Given the description of an element on the screen output the (x, y) to click on. 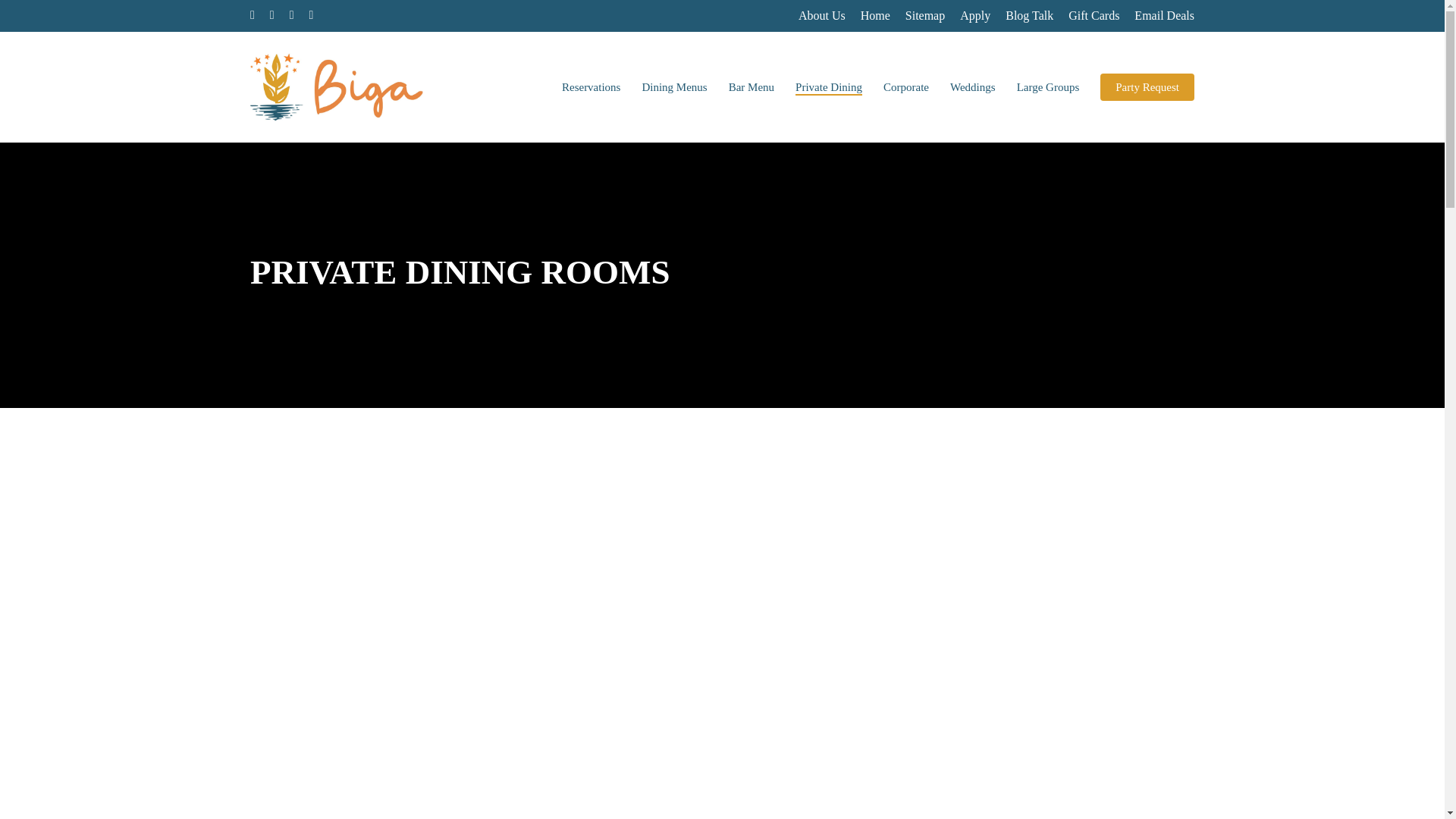
Apply (974, 15)
Reservations (591, 86)
Dining Menus (674, 86)
Home (874, 15)
Weddings (972, 86)
Large Groups (1048, 86)
Corporate (905, 86)
Gift Cards (1093, 15)
Party Request (1146, 86)
About Us (821, 15)
